Given the description of an element on the screen output the (x, y) to click on. 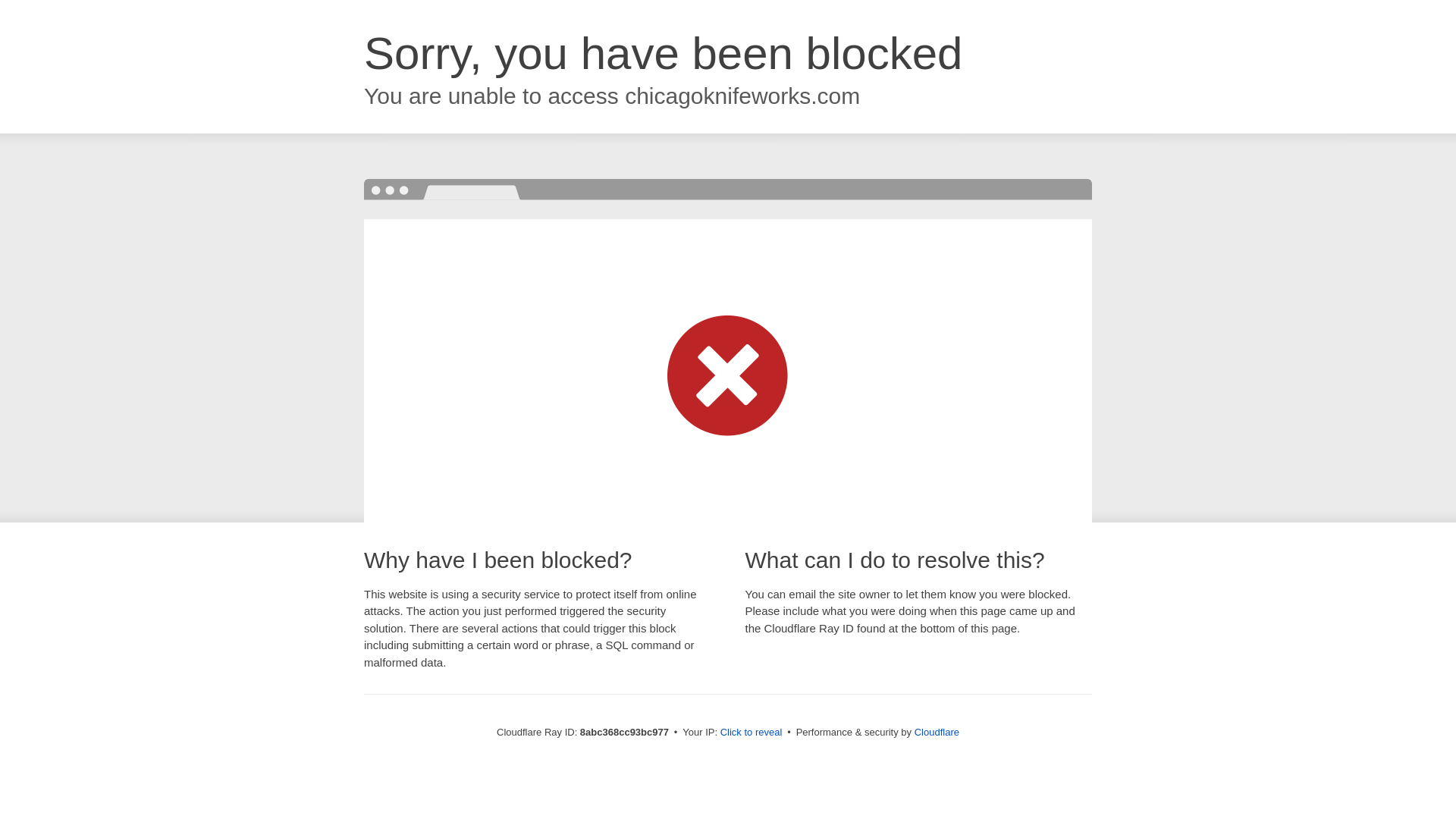
Click to reveal (751, 732)
Cloudflare (936, 731)
